Given the description of an element on the screen output the (x, y) to click on. 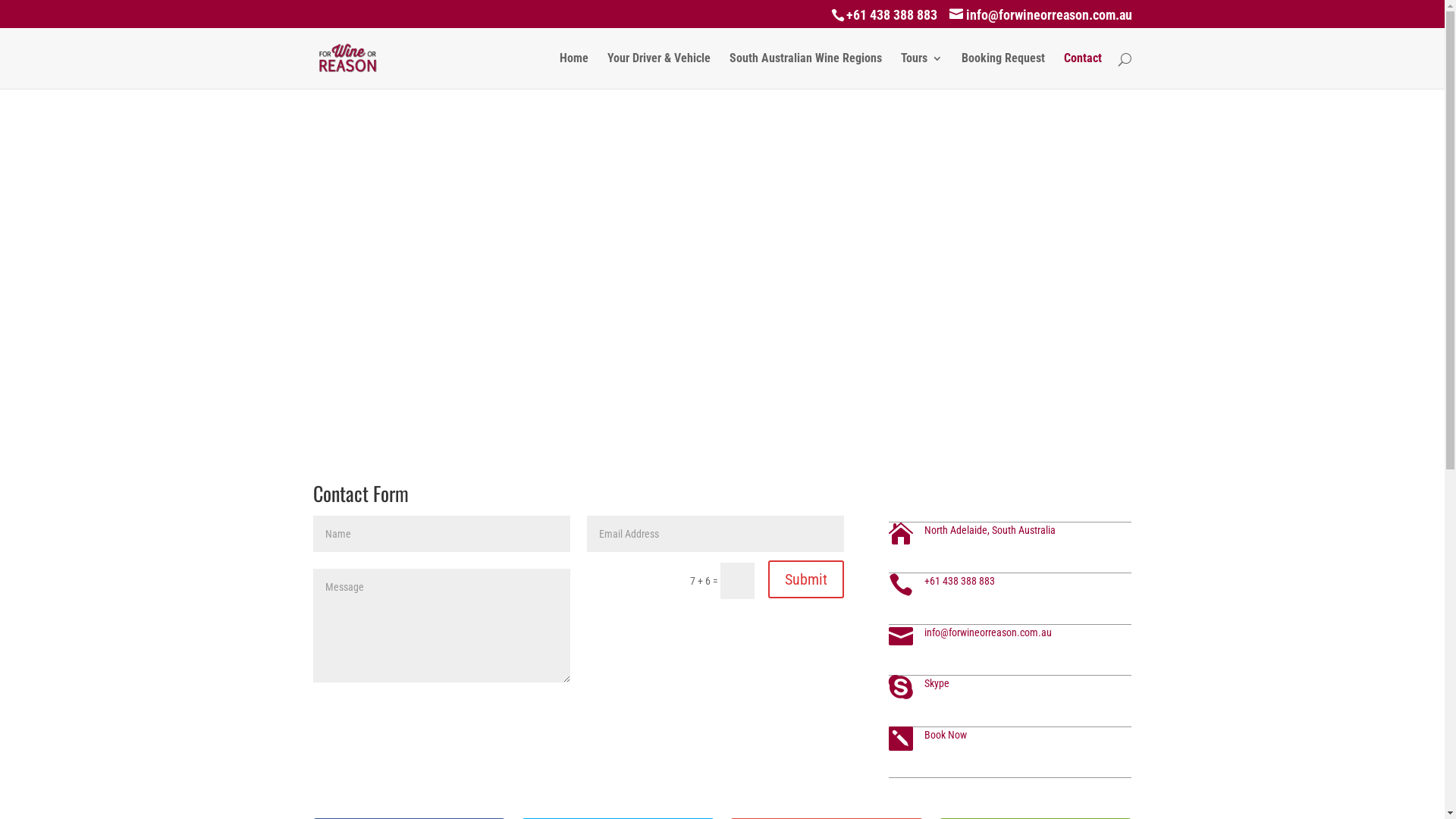
Skype Element type: text (936, 683)
info@forwineorreason.com.au Element type: text (987, 632)
Contact Element type: text (1082, 70)
+61 438 388 883 Element type: text (959, 580)
South Australian Wine Regions Element type: text (805, 70)
Booking Request Element type: text (1002, 70)
Home Element type: text (573, 70)
Submit Element type: text (806, 579)
info@forwineorreason.com.au Element type: text (1040, 16)
Your Driver & Vehicle Element type: text (657, 70)
Tours Element type: text (921, 70)
Book Now Element type: text (945, 734)
